Given the description of an element on the screen output the (x, y) to click on. 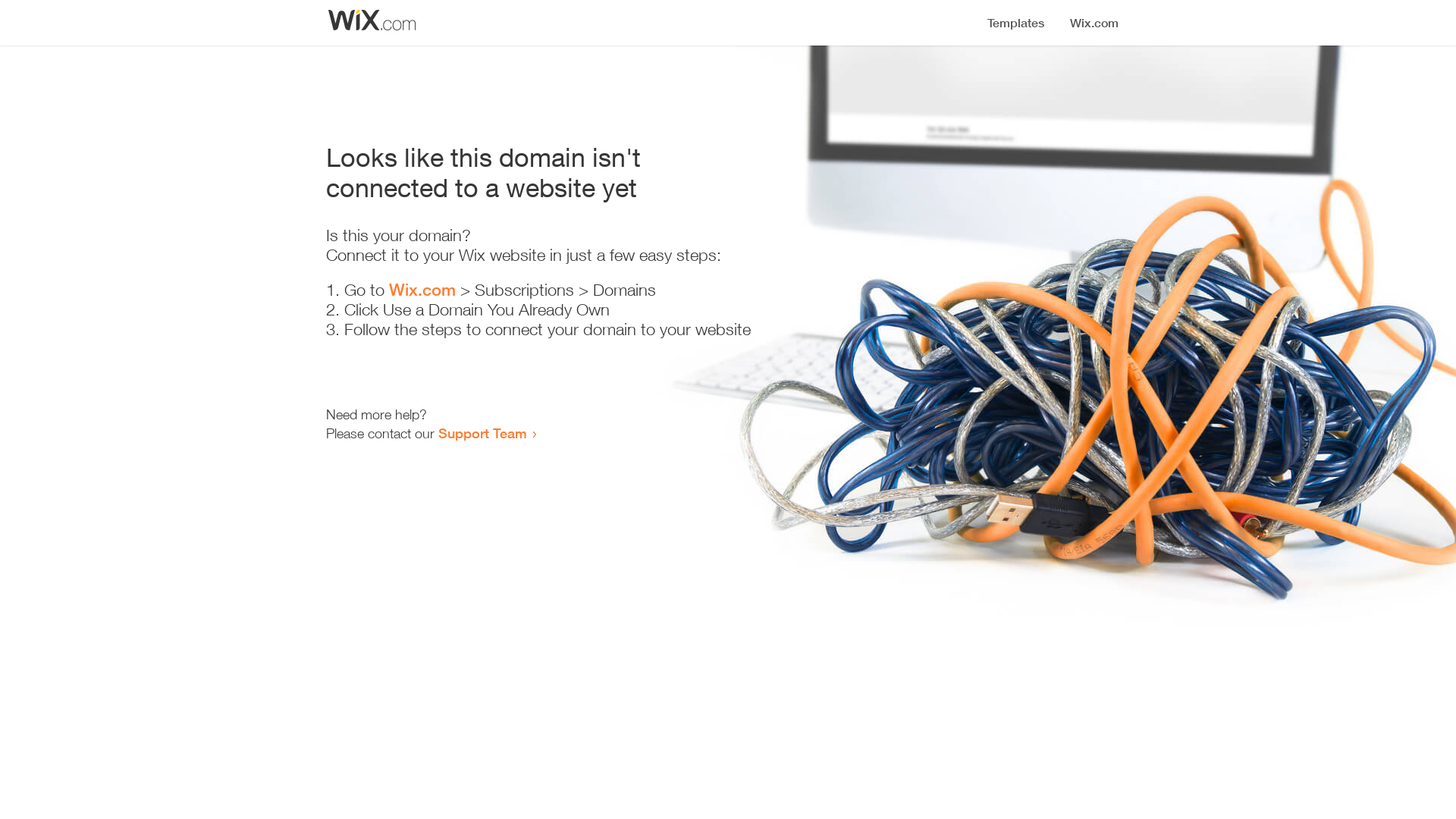
Wix.com Element type: text (422, 289)
Support Team Element type: text (482, 432)
